Given the description of an element on the screen output the (x, y) to click on. 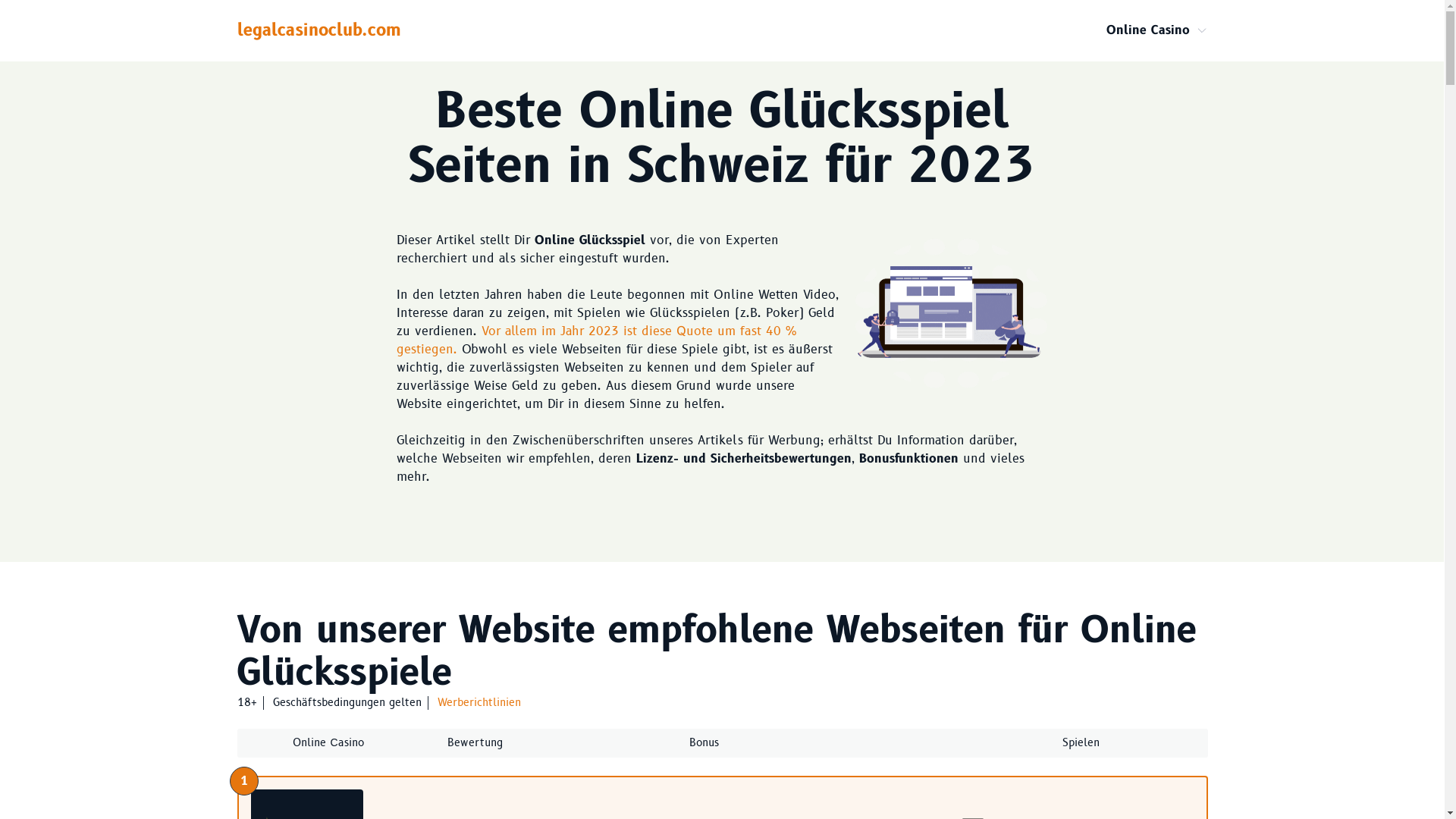
Online Casino Element type: text (1147, 30)
Werberichtlinien Element type: text (478, 702)
legalcasinoclub.com Element type: text (318, 29)
